Given the description of an element on the screen output the (x, y) to click on. 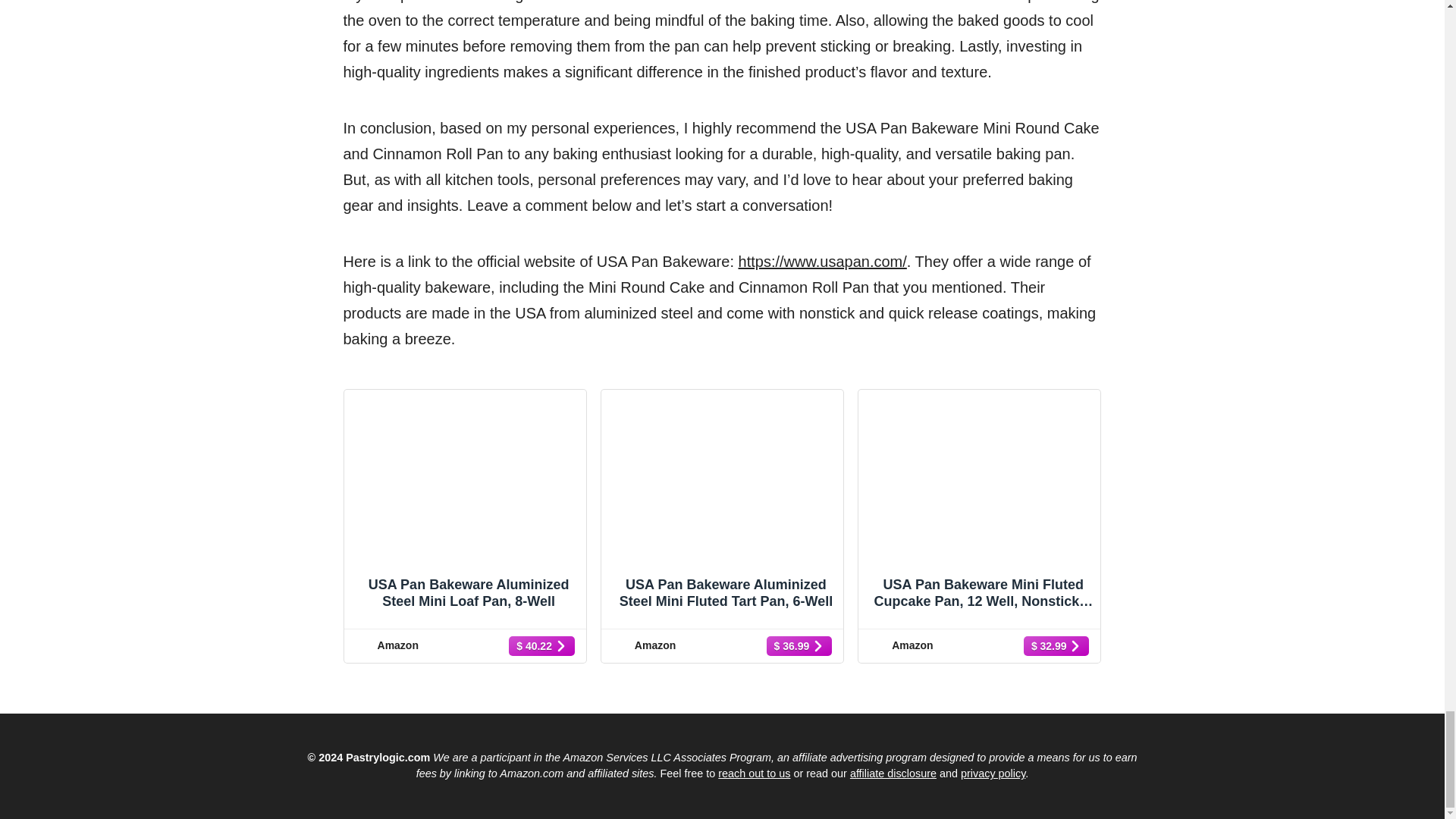
USA Pan Bakeware Aluminized Steel Mini Loaf Pan, 8-Well (465, 512)
affiliate disclosure (893, 773)
Pastrylogic.com (387, 757)
reach out to us (753, 773)
